Given the description of an element on the screen output the (x, y) to click on. 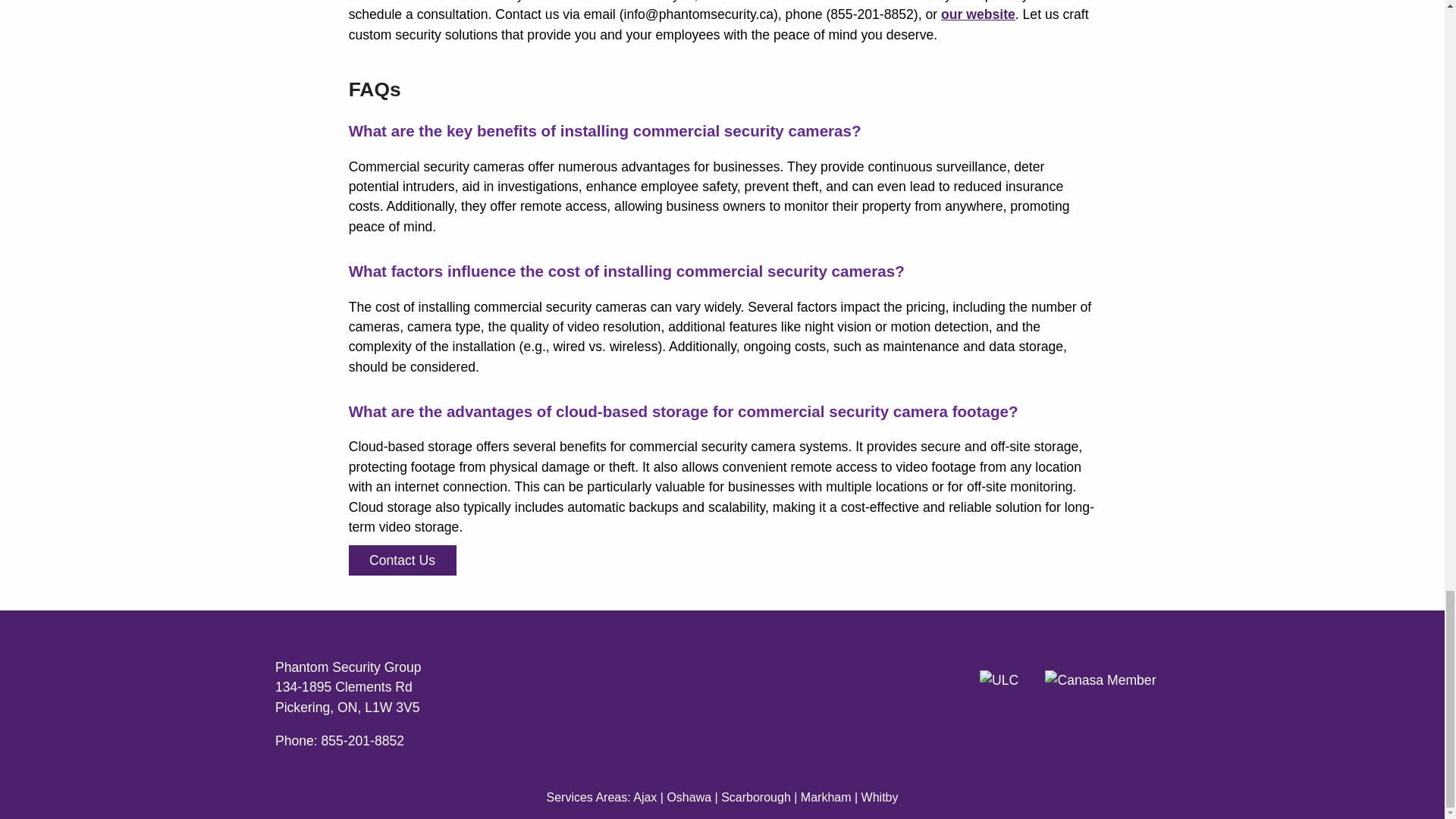
Scarborough (755, 796)
Markham (825, 796)
Ajax (647, 796)
Contact Us (403, 560)
our website (977, 14)
Whitby (879, 796)
855-201-8852 (362, 740)
Oshawa (688, 796)
